Given the description of an element on the screen output the (x, y) to click on. 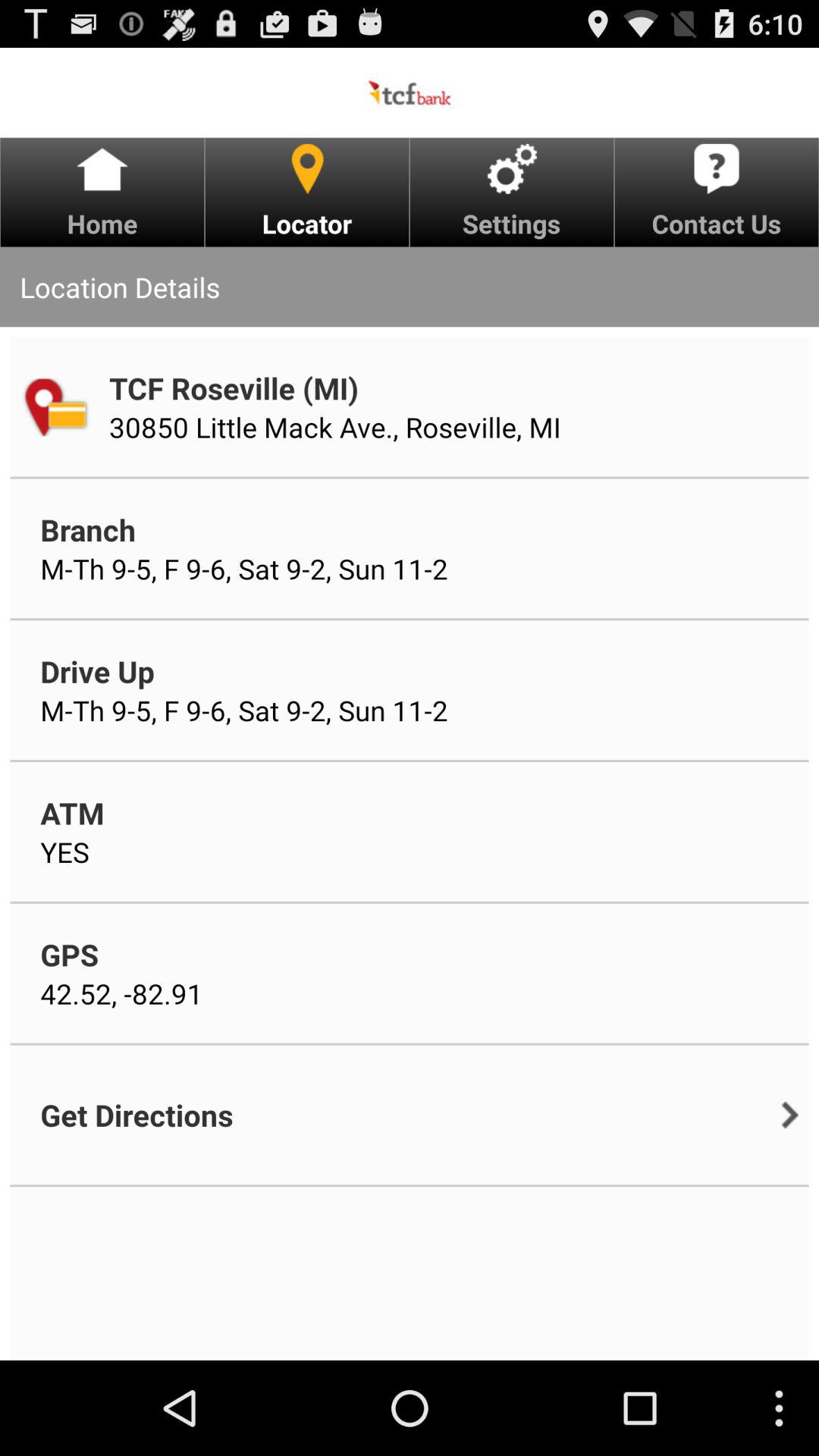
scroll until the gps icon (69, 954)
